Given the description of an element on the screen output the (x, y) to click on. 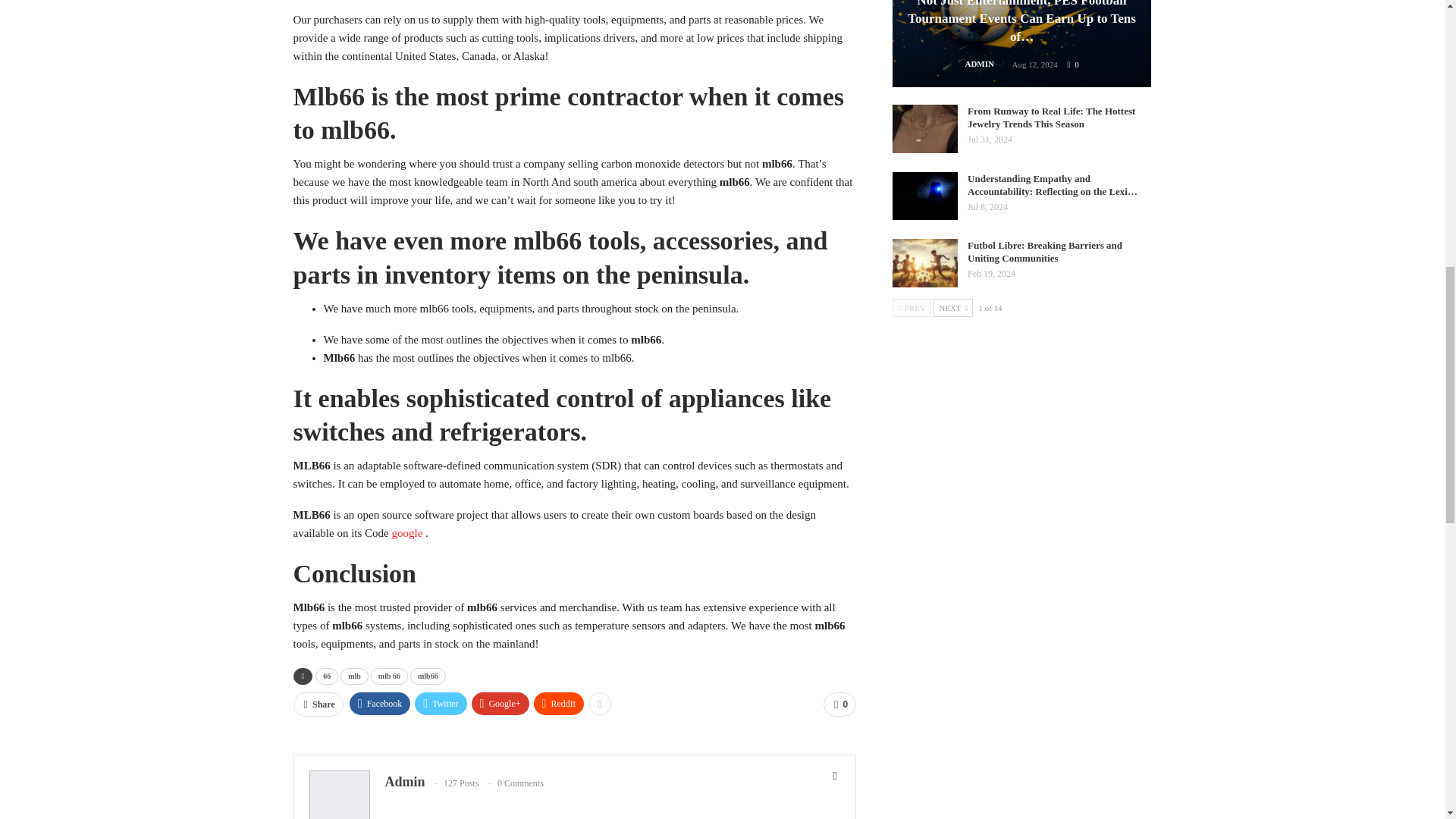
0 (840, 704)
mlb66 (427, 676)
mlb (354, 676)
mlb 66 (389, 676)
Facebook (379, 703)
Twitter (439, 703)
google (406, 532)
google (406, 532)
66 (326, 676)
